Given the description of an element on the screen output the (x, y) to click on. 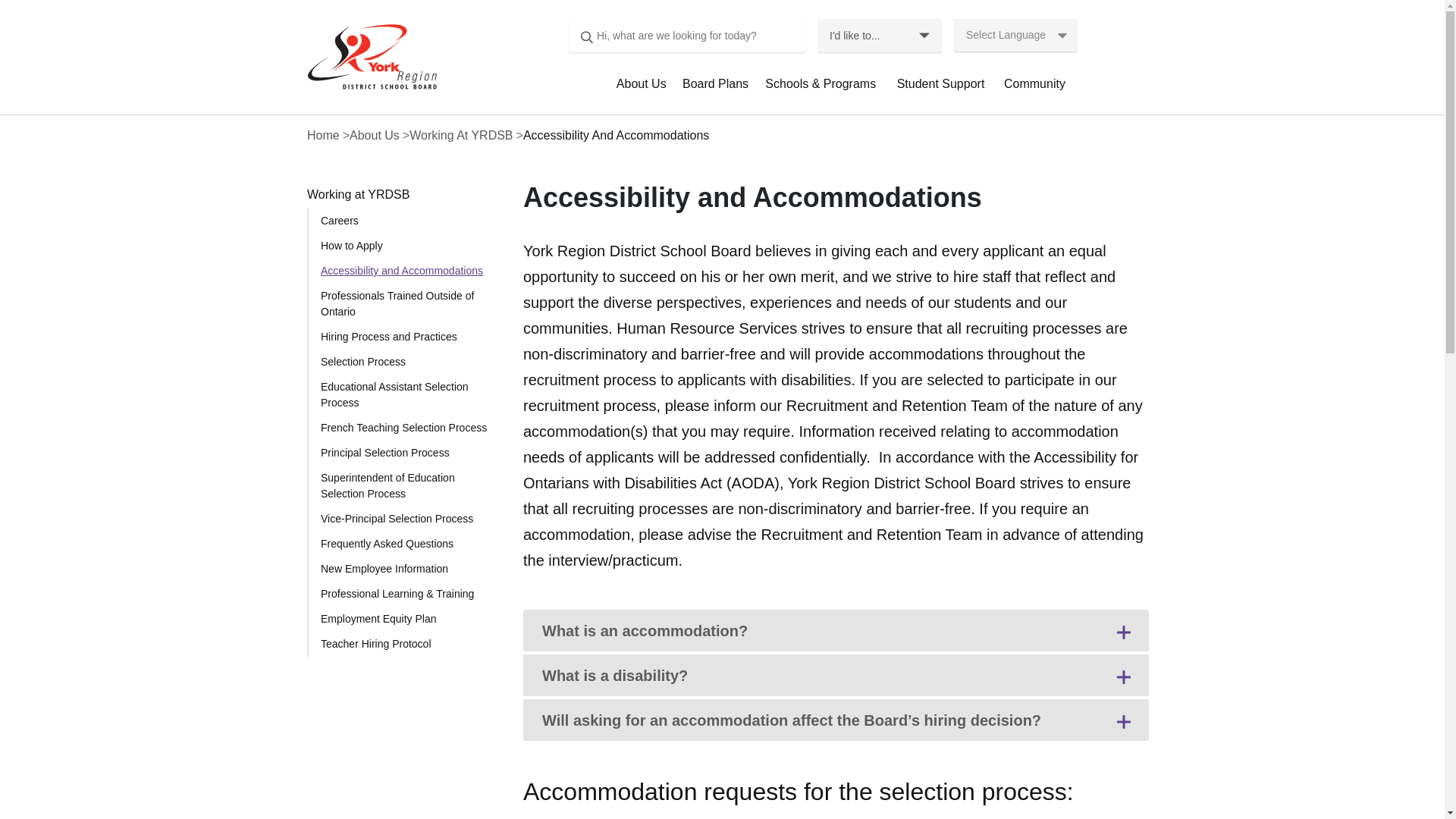
Board Plans (717, 91)
About Us (642, 91)
Home (367, 56)
Board Plans (717, 91)
About Us (642, 91)
